Given the description of an element on the screen output the (x, y) to click on. 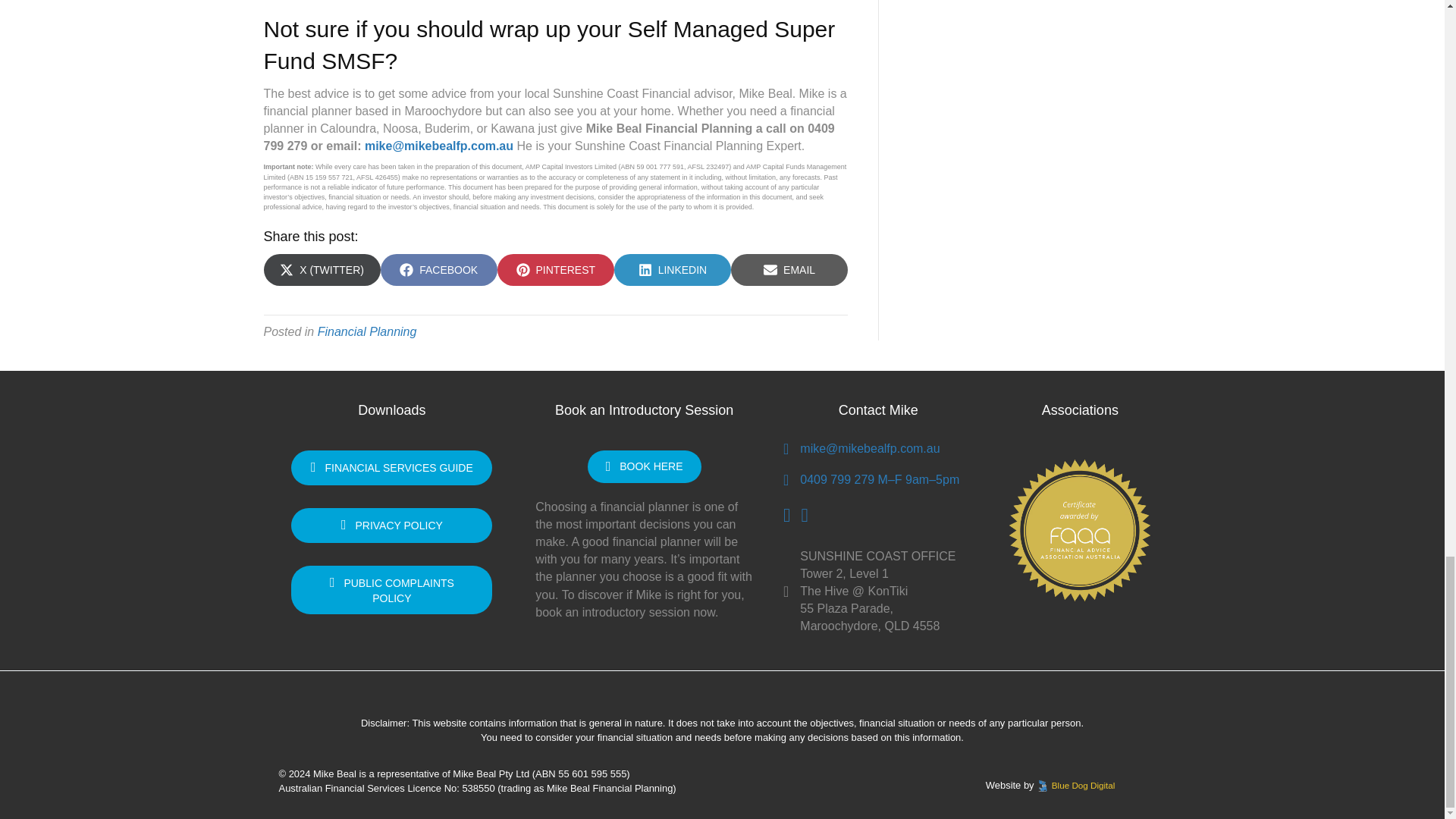
FINANCIAL SERVICES GUIDE (438, 269)
Seal Gold (391, 467)
Financial Planning (1079, 530)
PUBLIC COMPLAINTS POLICY (366, 331)
PRIVACY POLICY (391, 589)
BOOK HERE (391, 524)
